Given the description of an element on the screen output the (x, y) to click on. 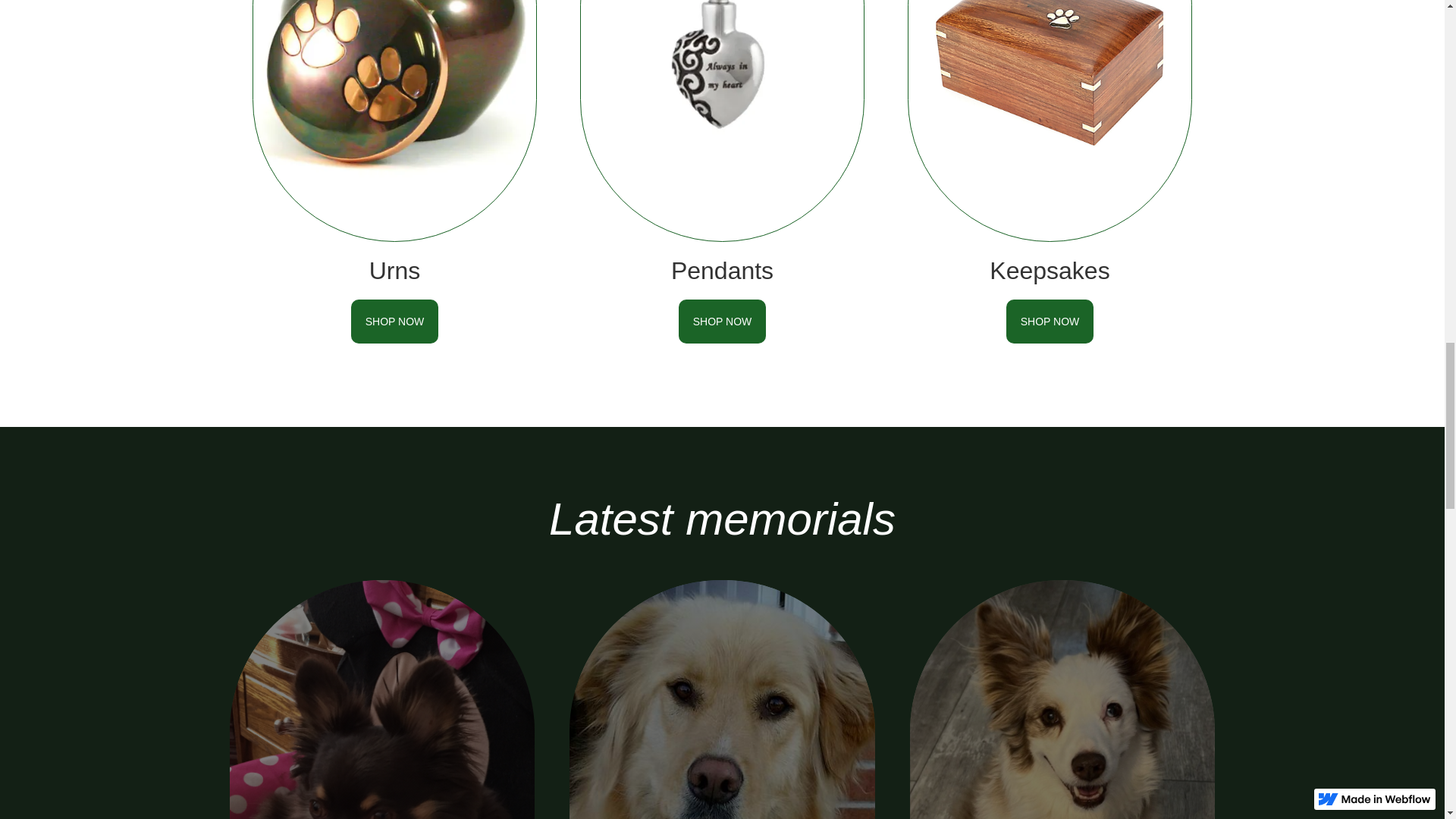
SHOP NOW (394, 321)
SHOP NOW (722, 321)
SHOP NOW (1050, 321)
